Given the description of an element on the screen output the (x, y) to click on. 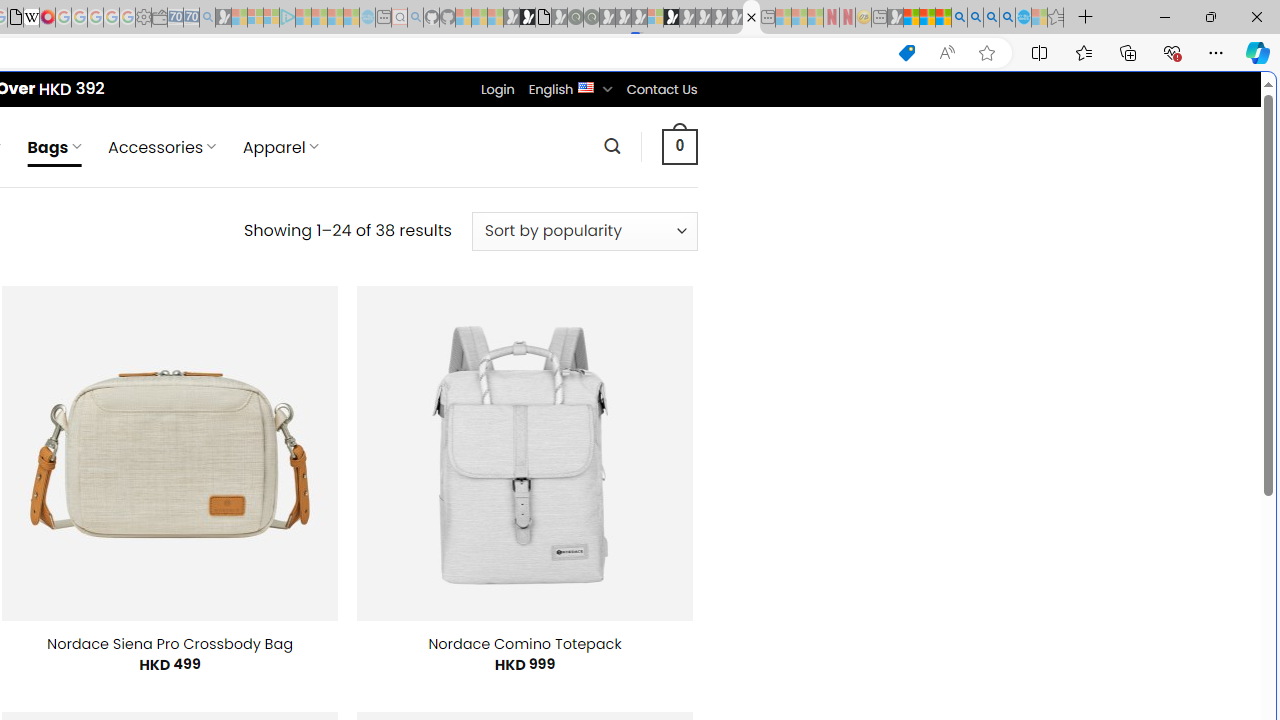
2009 Bing officially replaced Live Search on June 3 - Search (975, 17)
